Given the description of an element on the screen output the (x, y) to click on. 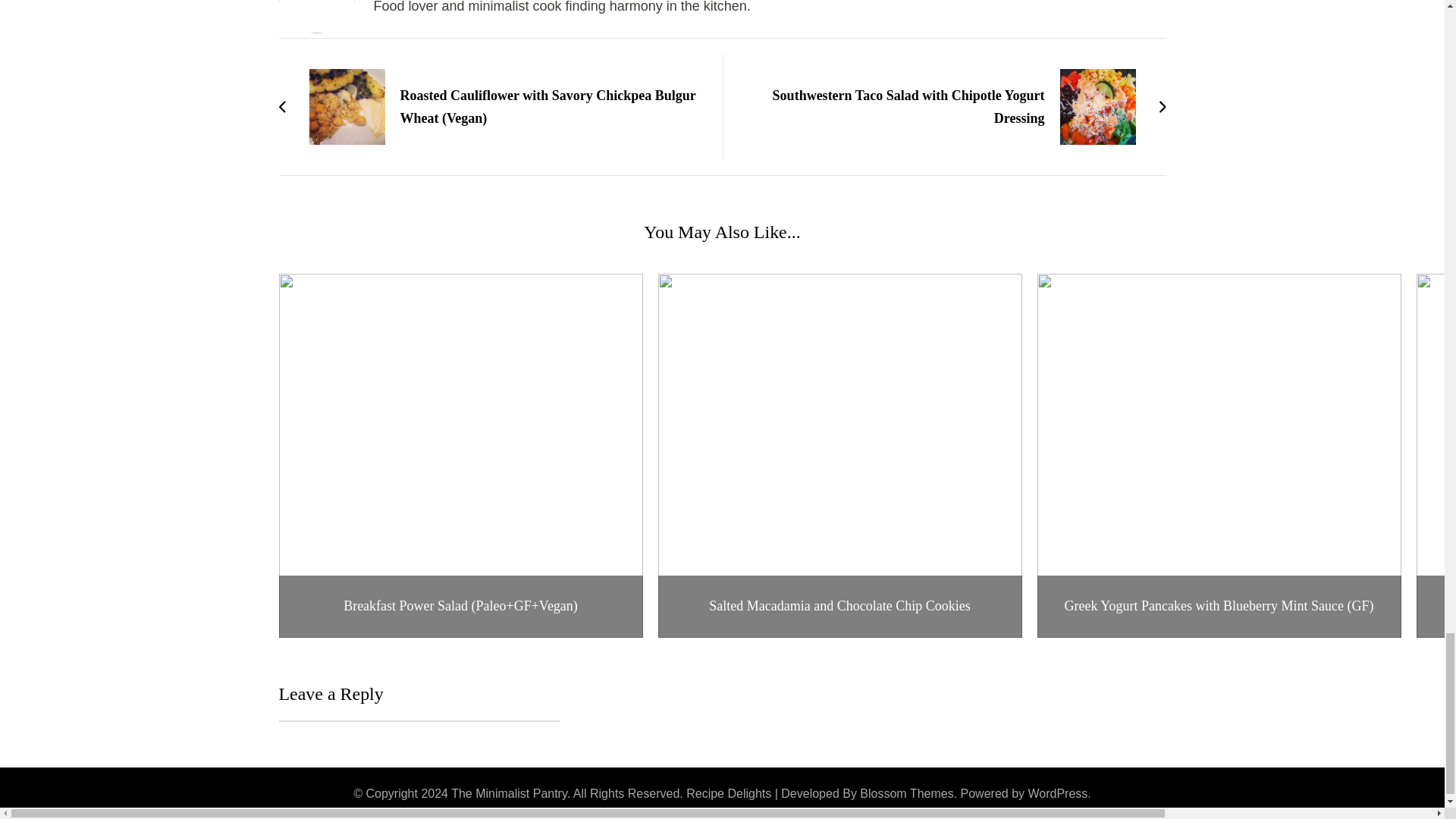
Southwestern Taco Salad with Chipotle Yogurt Dressing (951, 106)
